Given the description of an element on the screen output the (x, y) to click on. 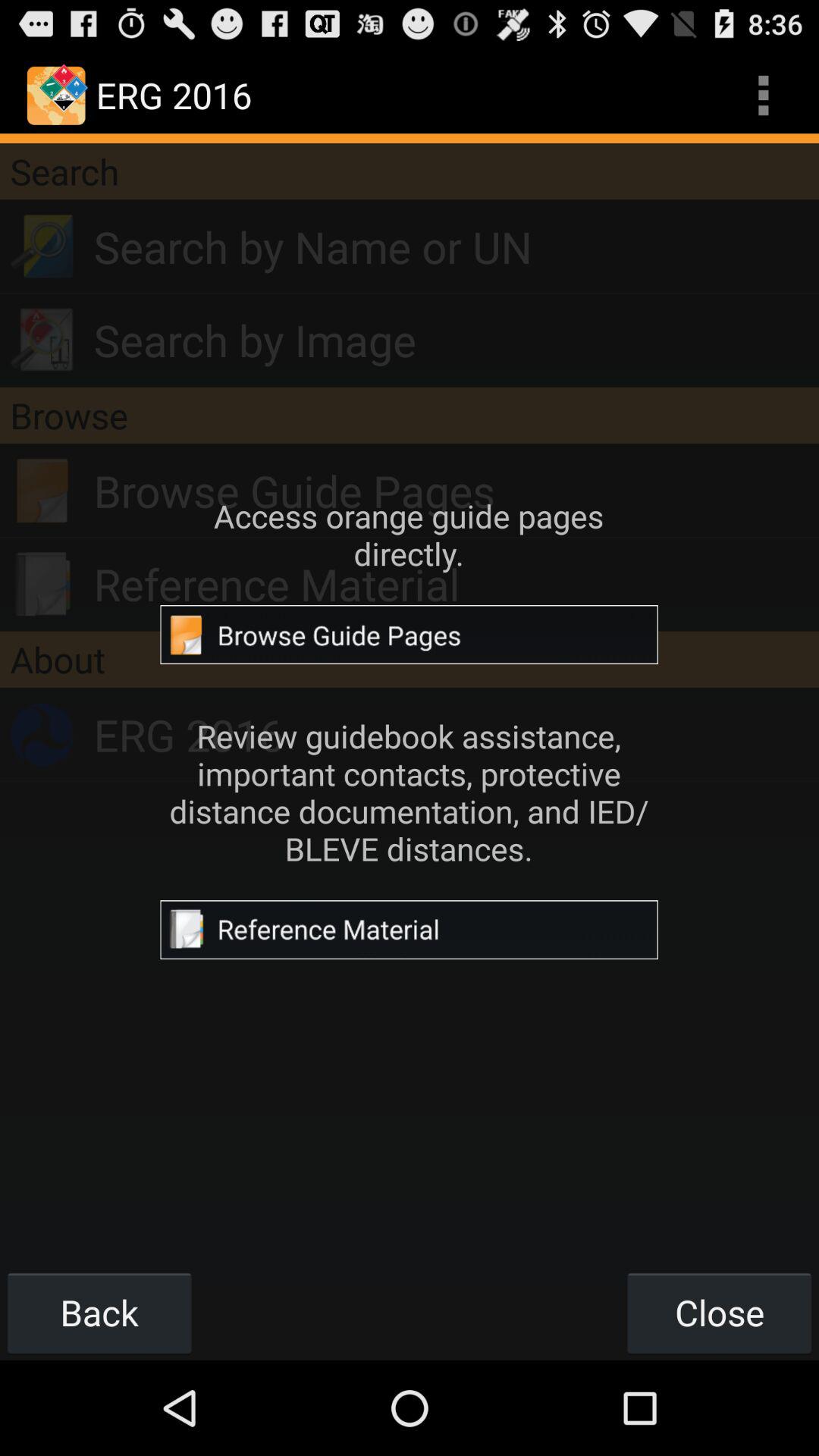
scroll to back item (99, 1312)
